Given the description of an element on the screen output the (x, y) to click on. 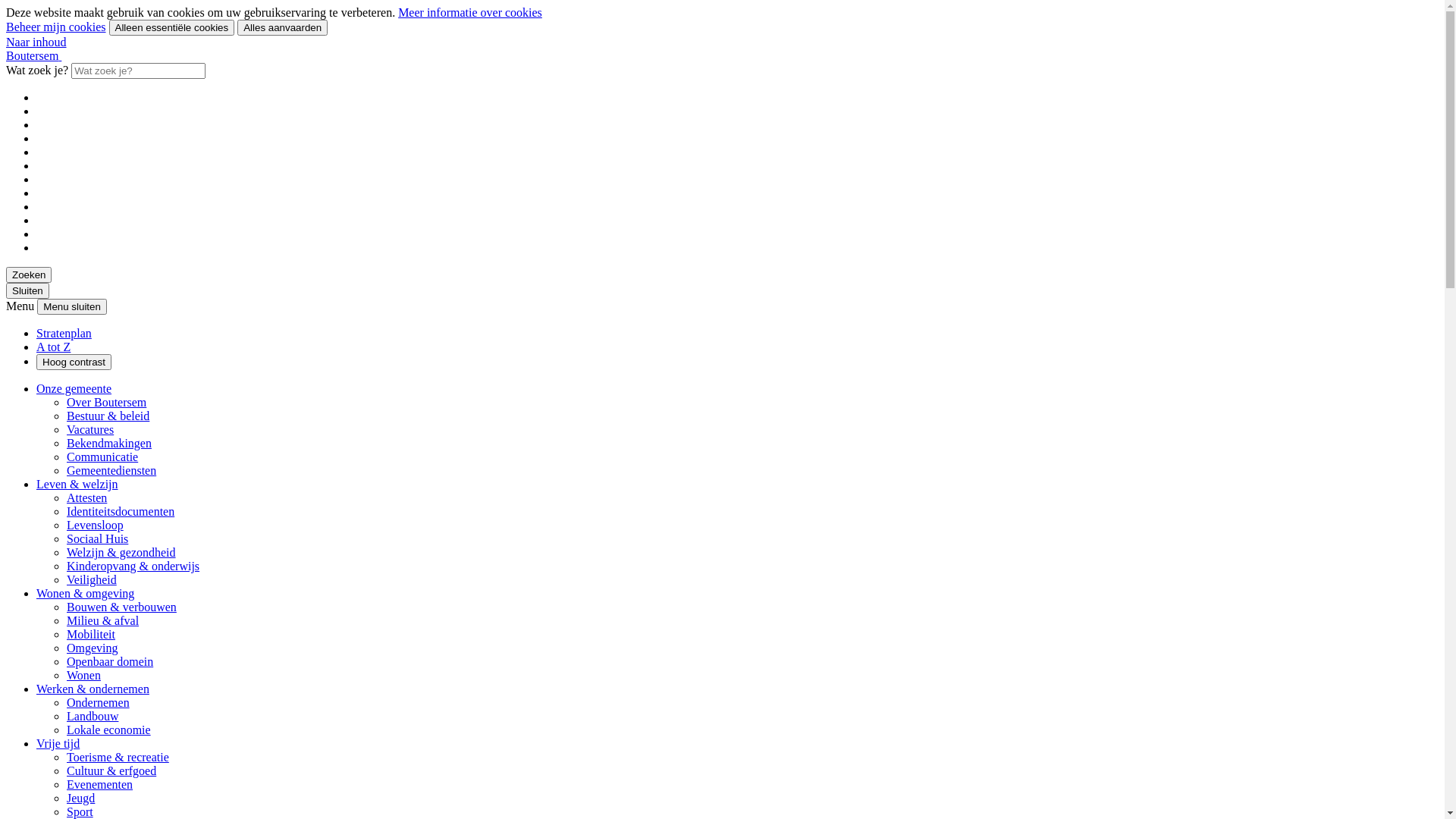
Toerisme & recreatie Element type: text (117, 756)
Lokale economie Element type: text (108, 729)
Levensloop Element type: text (94, 524)
Welzijn & gezondheid Element type: text (120, 552)
Bouwen & verbouwen Element type: text (121, 606)
Wonen Element type: text (83, 674)
Vacatures Element type: text (89, 429)
Sluiten Element type: text (27, 290)
Werken & ondernemen Element type: text (92, 688)
Menu sluiten Element type: text (71, 306)
Sport Element type: text (79, 811)
Over Boutersem Element type: text (106, 401)
Beheer mijn cookies Element type: text (56, 26)
Hoog contrast Element type: text (73, 362)
Leven & welzijn Element type: text (77, 483)
Cultuur & erfgoed Element type: text (111, 770)
Omgeving Element type: text (92, 647)
Naar inhoud Element type: text (36, 41)
Communicatie Element type: text (102, 456)
Mobiliteit Element type: text (90, 633)
Sociaal Huis Element type: text (97, 538)
Ondernemen Element type: text (97, 702)
Bestuur & beleid Element type: text (107, 415)
Kinderopvang & onderwijs Element type: text (132, 565)
Gemeentediensten Element type: text (111, 470)
Alles aanvaarden Element type: text (282, 27)
Evenementen Element type: text (99, 784)
Milieu & afval Element type: text (102, 620)
Landbouw Element type: text (92, 715)
Boutersem Element type: text (33, 55)
Bekendmakingen Element type: text (108, 442)
Veiligheid Element type: text (91, 579)
Zoeken Element type: text (28, 274)
Identiteitsdocumenten Element type: text (120, 511)
Meer informatie over cookies Element type: text (470, 12)
Openbaar domein Element type: text (109, 661)
Stratenplan Element type: text (63, 332)
Vrije tijd Element type: text (57, 743)
Attesten Element type: text (86, 497)
A tot Z Element type: text (53, 346)
Onze gemeente Element type: text (73, 388)
Jeugd Element type: text (80, 797)
Wonen & omgeving Element type: text (85, 592)
